Given the description of an element on the screen output the (x, y) to click on. 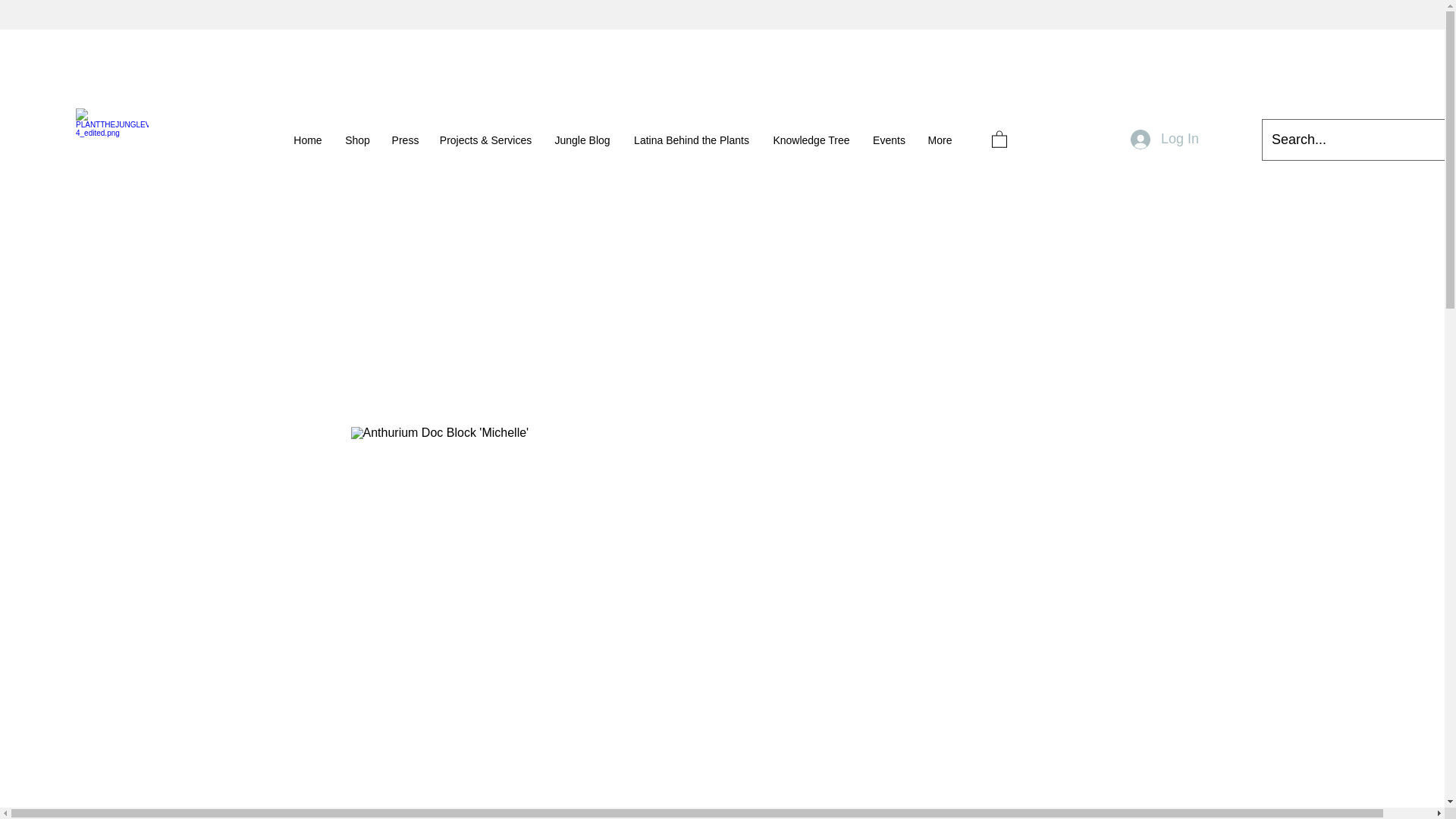
Jungle Blog (582, 139)
Latina Behind the Plants (691, 139)
Shop (357, 139)
Log In (1164, 139)
Events (888, 139)
Home (307, 139)
